Given the description of an element on the screen output the (x, y) to click on. 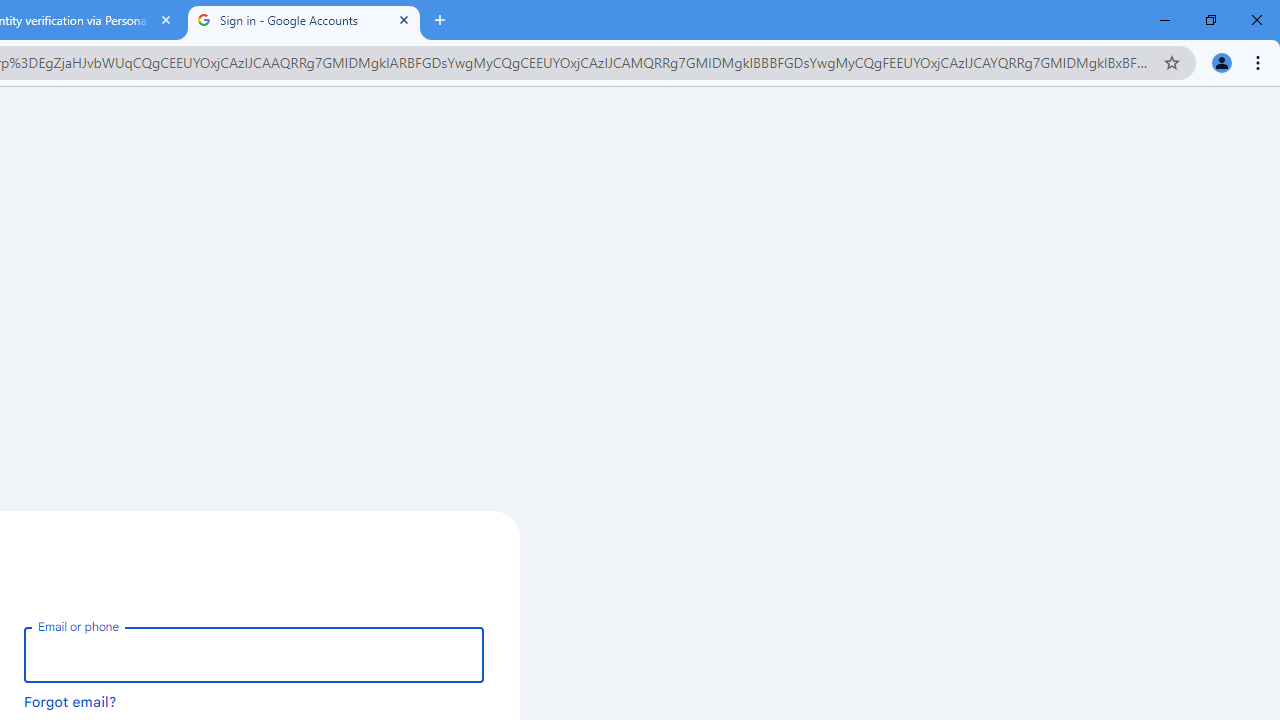
Sign in - Google Accounts (304, 20)
Forgot email? (70, 701)
Email or phone (253, 654)
